Given the description of an element on the screen output the (x, y) to click on. 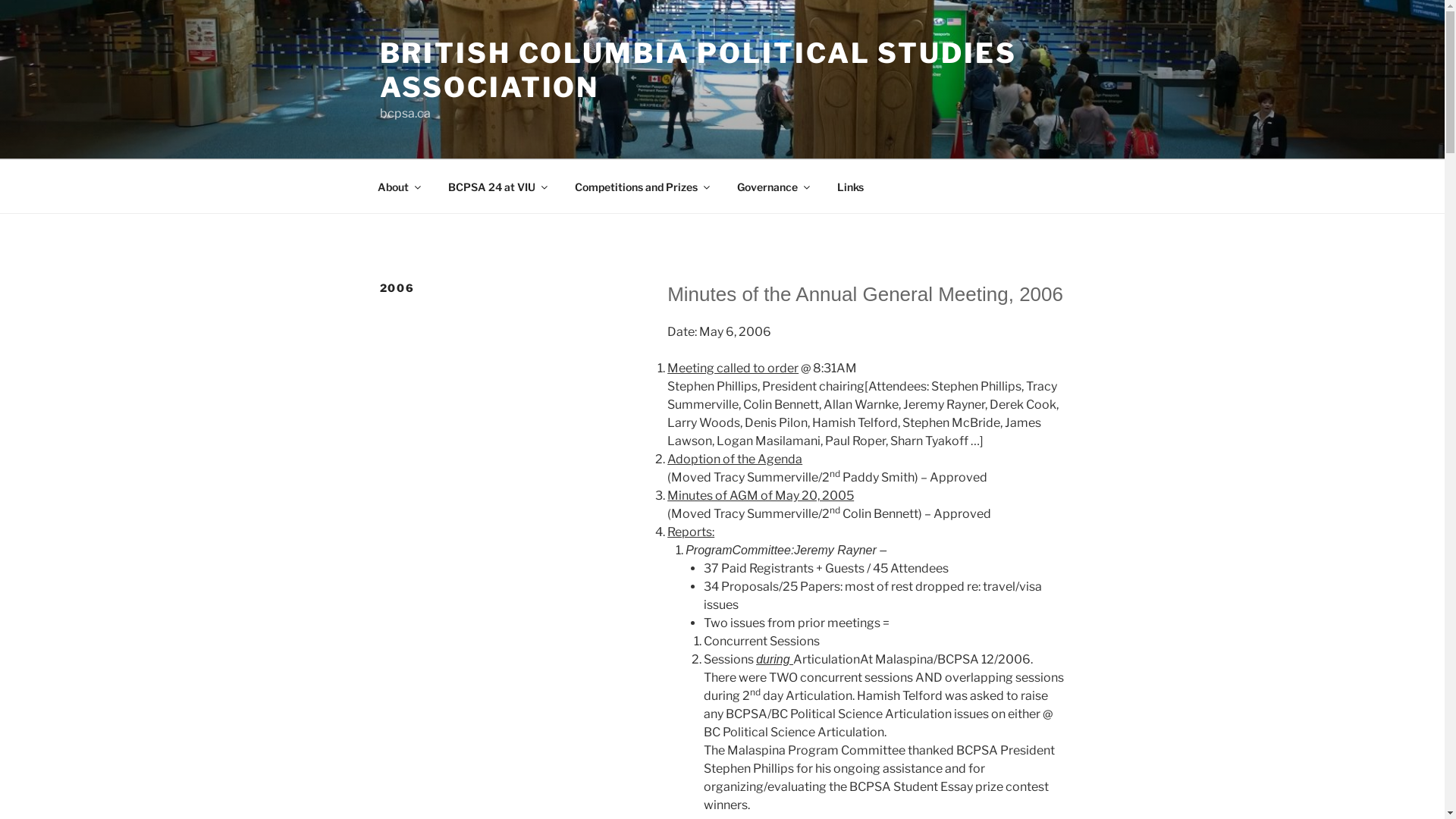
Links Element type: text (849, 186)
Competitions and Prizes Element type: text (641, 186)
BCPSA 24 at VIU Element type: text (497, 186)
Governance Element type: text (772, 186)
BRITISH COLUMBIA POLITICAL STUDIES ASSOCIATION Element type: text (697, 69)
About Element type: text (398, 186)
